Given the description of an element on the screen output the (x, y) to click on. 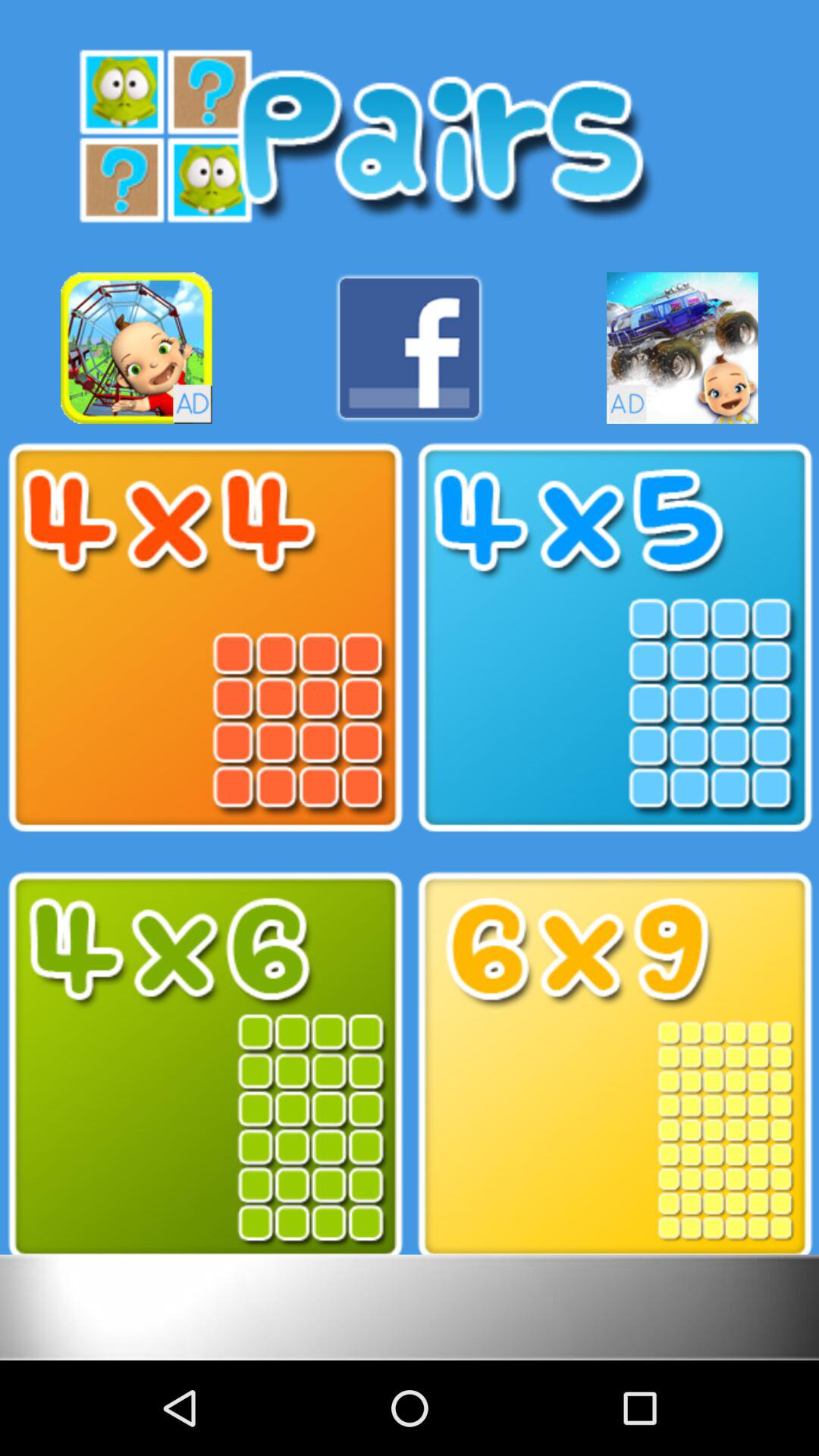
go to facebook page (409, 347)
